Given the description of an element on the screen output the (x, y) to click on. 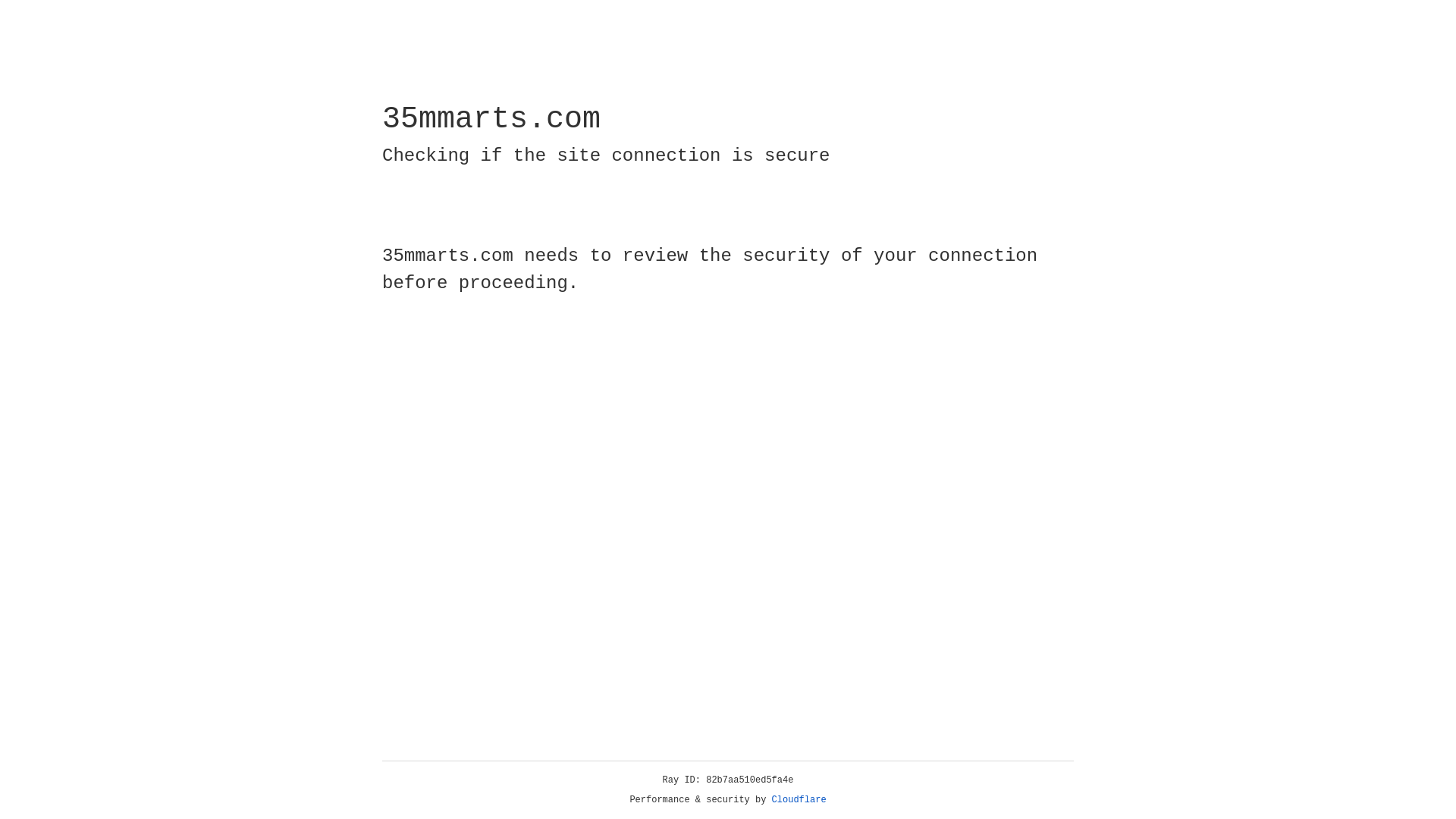
Cloudflare Element type: text (798, 799)
